Given the description of an element on the screen output the (x, y) to click on. 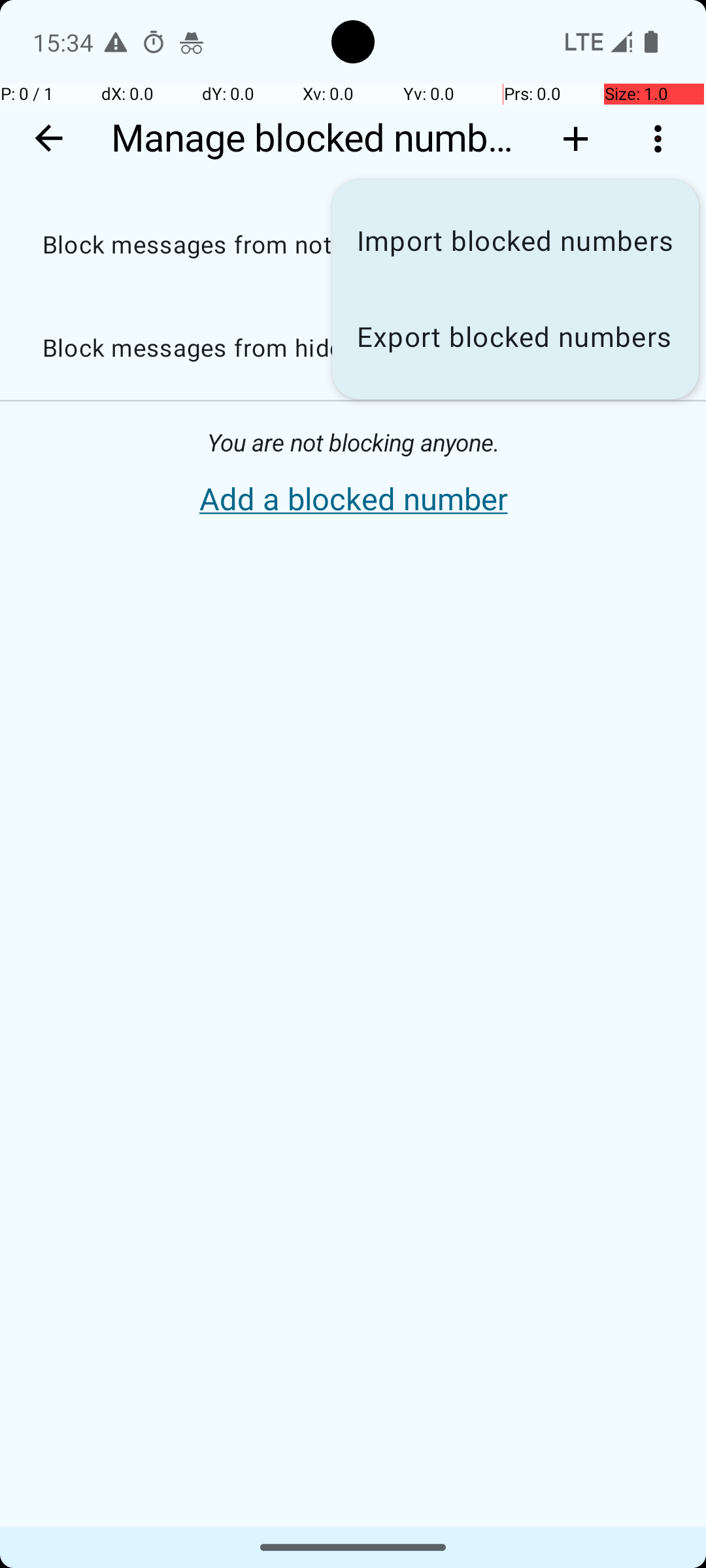
Import blocked numbers Element type: android.widget.TextView (515, 240)
Export blocked numbers Element type: android.widget.TextView (515, 337)
